Given the description of an element on the screen output the (x, y) to click on. 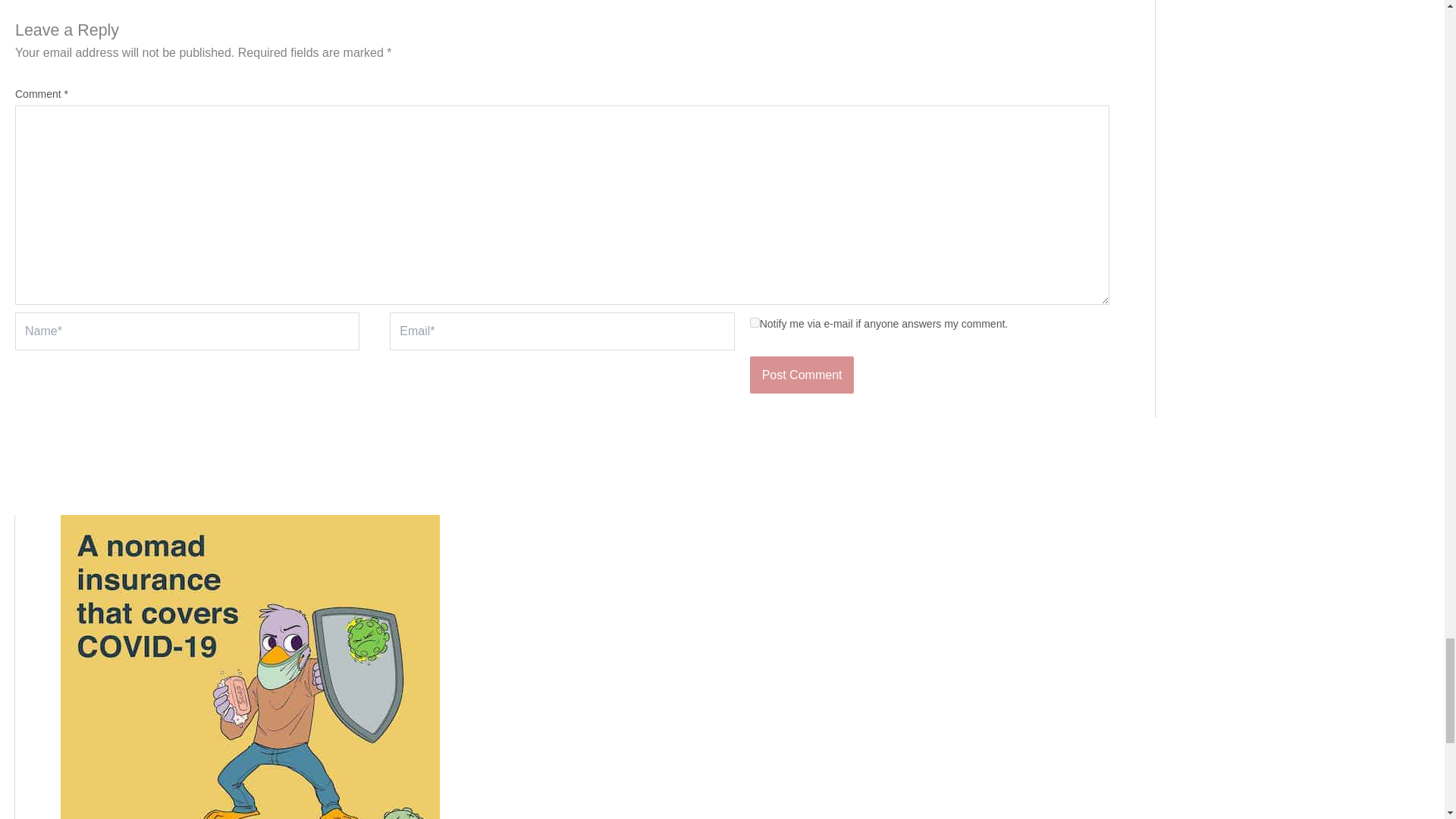
on (754, 322)
Post Comment (801, 374)
